Given the description of an element on the screen output the (x, y) to click on. 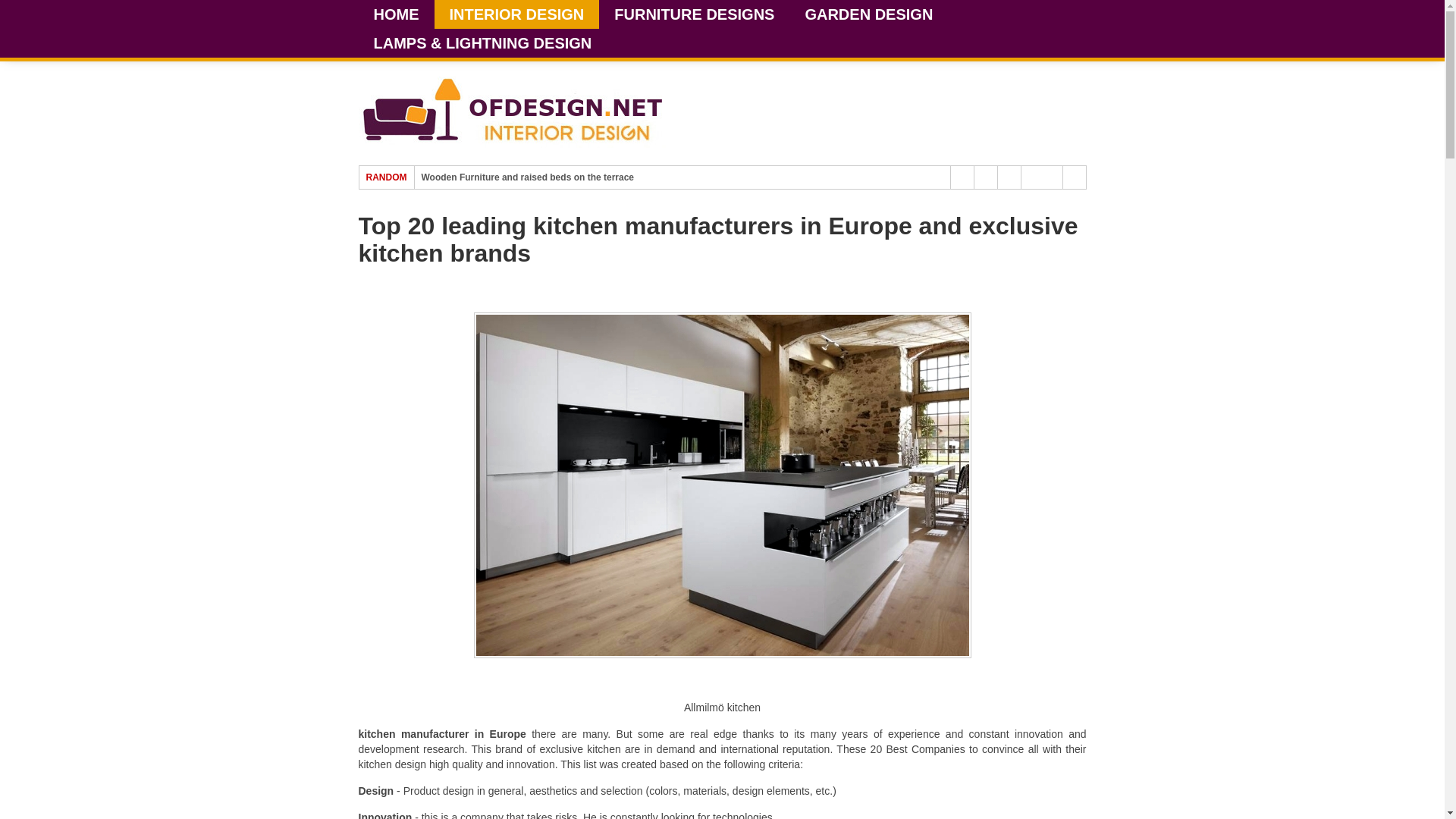
Wooden Furniture and raised beds on the terrace (528, 176)
HOME (395, 14)
INTERIOR DESIGN (515, 14)
GARDEN DESIGN (868, 14)
FURNITURE DESIGNS (693, 14)
